Given the description of an element on the screen output the (x, y) to click on. 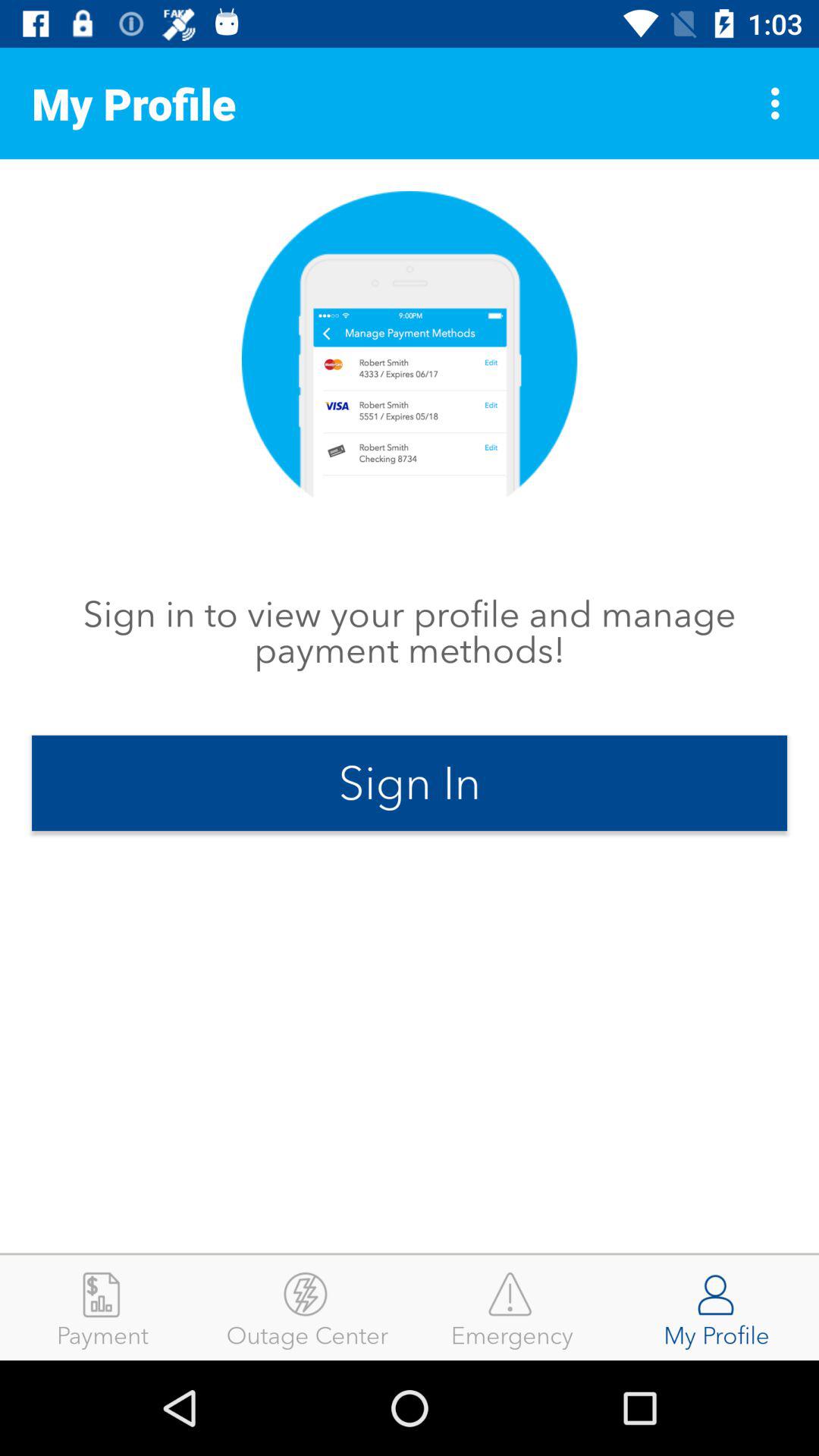
launch icon to the right of my profile (779, 103)
